Given the description of an element on the screen output the (x, y) to click on. 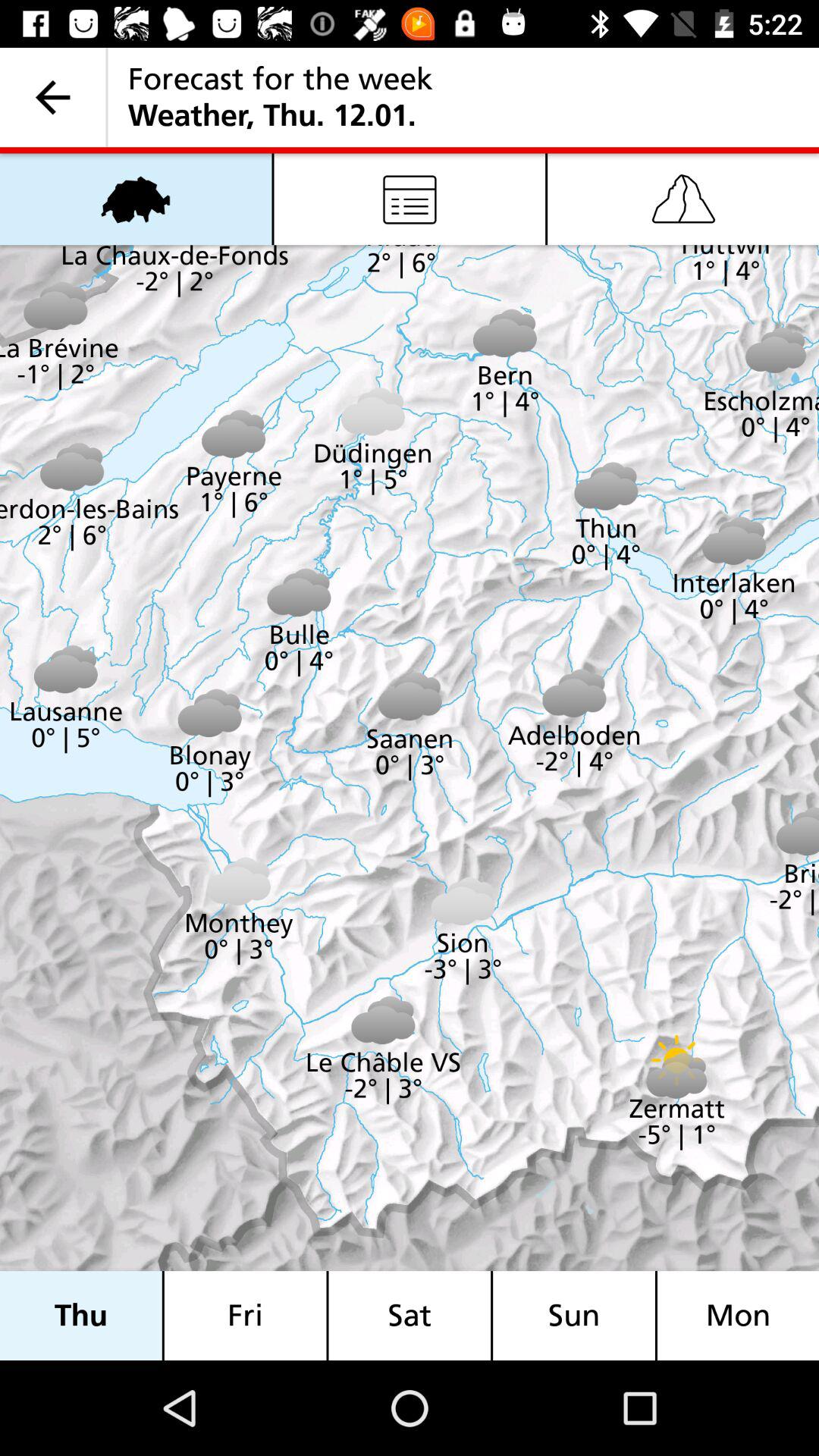
launch icon to the right of the fri item (409, 1315)
